Given the description of an element on the screen output the (x, y) to click on. 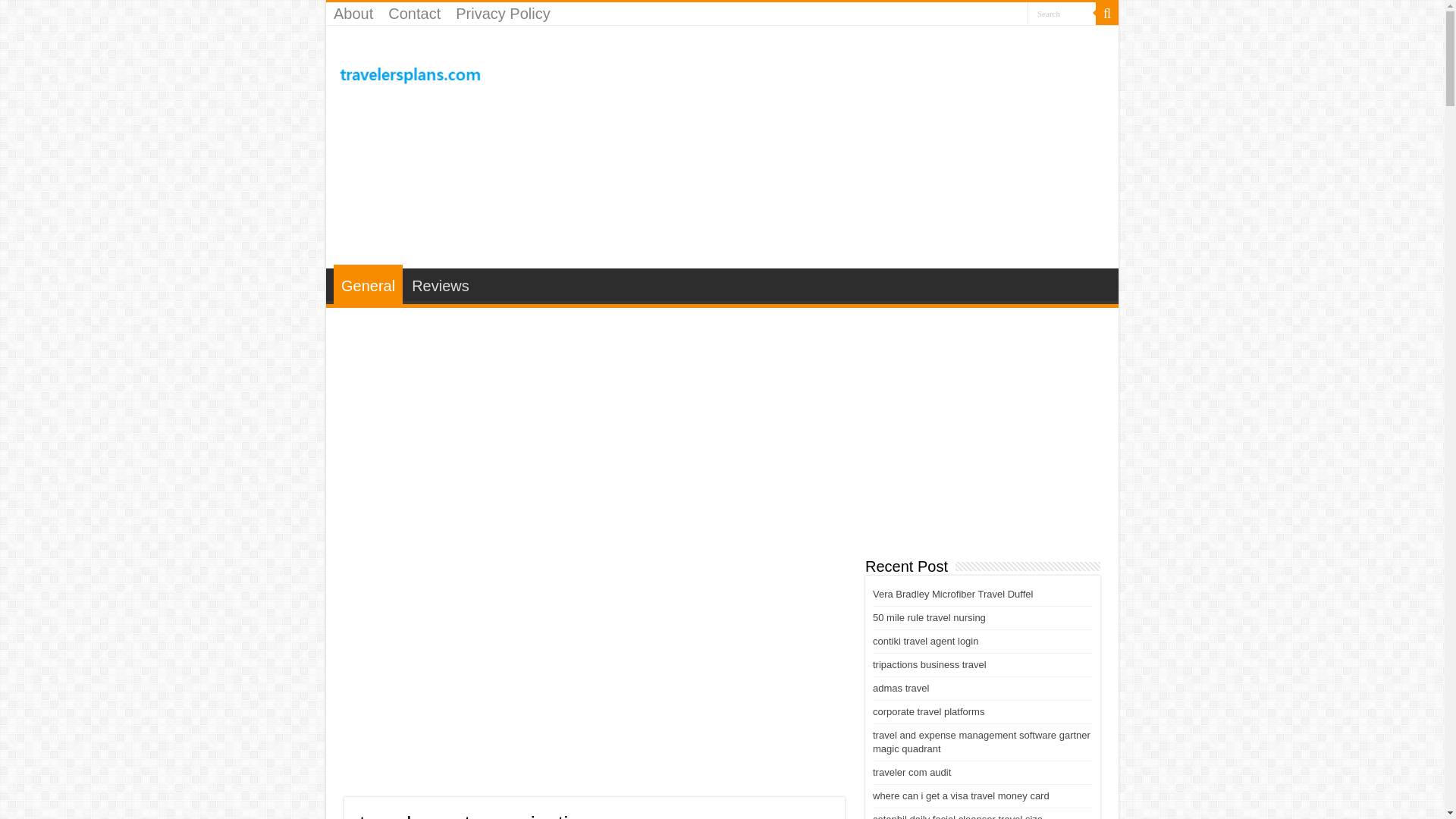
50 mile rule travel nursing (928, 617)
Search (1061, 13)
contiki travel agent login (925, 641)
General (368, 283)
tripactions business travel (929, 664)
Search (1107, 13)
Privacy Policy (502, 13)
Search (1061, 13)
corporate travel platforms (928, 711)
About (353, 13)
admas travel (900, 687)
where can i get a visa travel money card (960, 795)
Contact (414, 13)
Advertisement (594, 675)
